Given the description of an element on the screen output the (x, y) to click on. 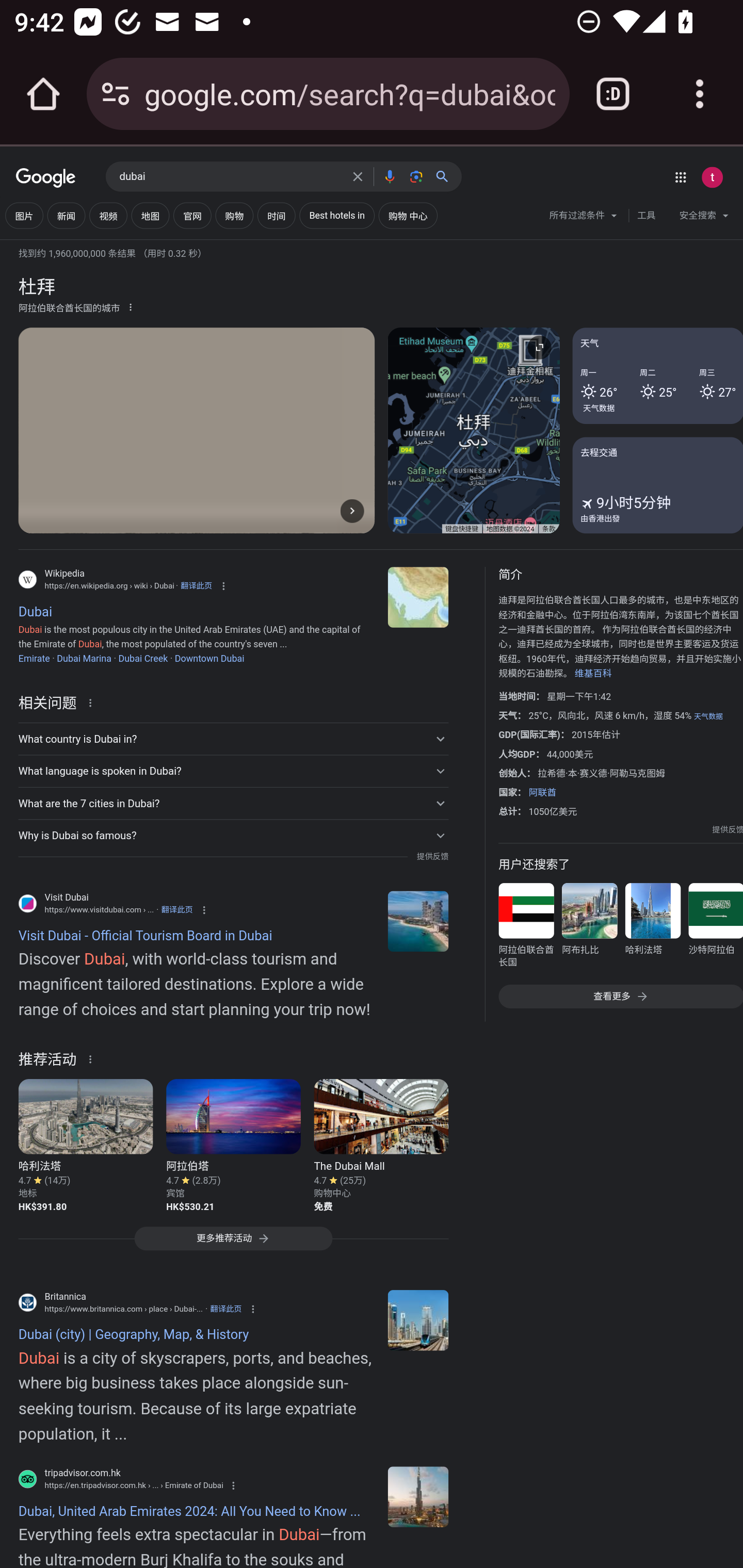
Open the home page (43, 93)
Connection is secure (115, 93)
Switch or close tabs (612, 93)
Customize and control Google Chrome (699, 93)
清除 (357, 176)
按语音搜索 (389, 176)
按图搜索 (415, 176)
搜索 (446, 176)
Google 应用 (680, 176)
Google 账号： test appium (testappium002@gmail.com) (712, 176)
Google (45, 178)
dubai (229, 177)
图片 (24, 215)
新闻 (65, 215)
视频 (107, 215)
地图 (149, 215)
添加“官网” 官网 (191, 215)
购物 (234, 215)
添加“时间” 时间 (276, 215)
添加“Best hotels in” Best hotels in (337, 215)
添加“购物 中心” 购物 中心 (407, 215)
所有过滤条件 (583, 217)
工具 (646, 215)
安全搜索 (703, 217)
更多选项 (130, 306)
天气 周一 高温 26 度 周二 高温 25 度 周三 高温 27 度 (657, 375)
展开地图 (539, 346)
天气数据 (599, 407)
去程交通 9小时5分钟 乘坐飞机 由香港出發 (657, 484)
下一张图片 (352, 510)
Dubai (417, 597)
翻译此页 (195, 585)
Emirate (33, 658)
Dubai Marina (84, 658)
Dubai Creek (142, 658)
Downtown Dubai (208, 658)
维基百科 (593, 672)
关于这条结果的详细信息 (93, 701)
天气数据 (708, 716)
What country is Dubai in? (232, 738)
What language is spoken in Dubai? (232, 770)
阿联酋 (541, 792)
What are the 7 cities in Dubai? (232, 803)
Why is Dubai so famous? (232, 835)
提供反馈 (727, 829)
提供反馈 (432, 856)
阿拉伯联合酋长国 (526, 927)
阿布扎比 (588, 927)
哈利法塔 (652, 927)
沙特阿拉伯 (715, 927)
en (417, 920)
翻译此页 (176, 909)
查看更多 查看更多 查看更多 (620, 996)
关于这条结果的详细信息 (93, 1058)
更多推荐活动 (232, 1243)
Dubai-United-Arab-Emirates (417, 1319)
翻译此页 (225, 1309)
Tourism-g295424-Dubai_Emirate_of_Dubai-Vacations (417, 1496)
